Given the description of an element on the screen output the (x, y) to click on. 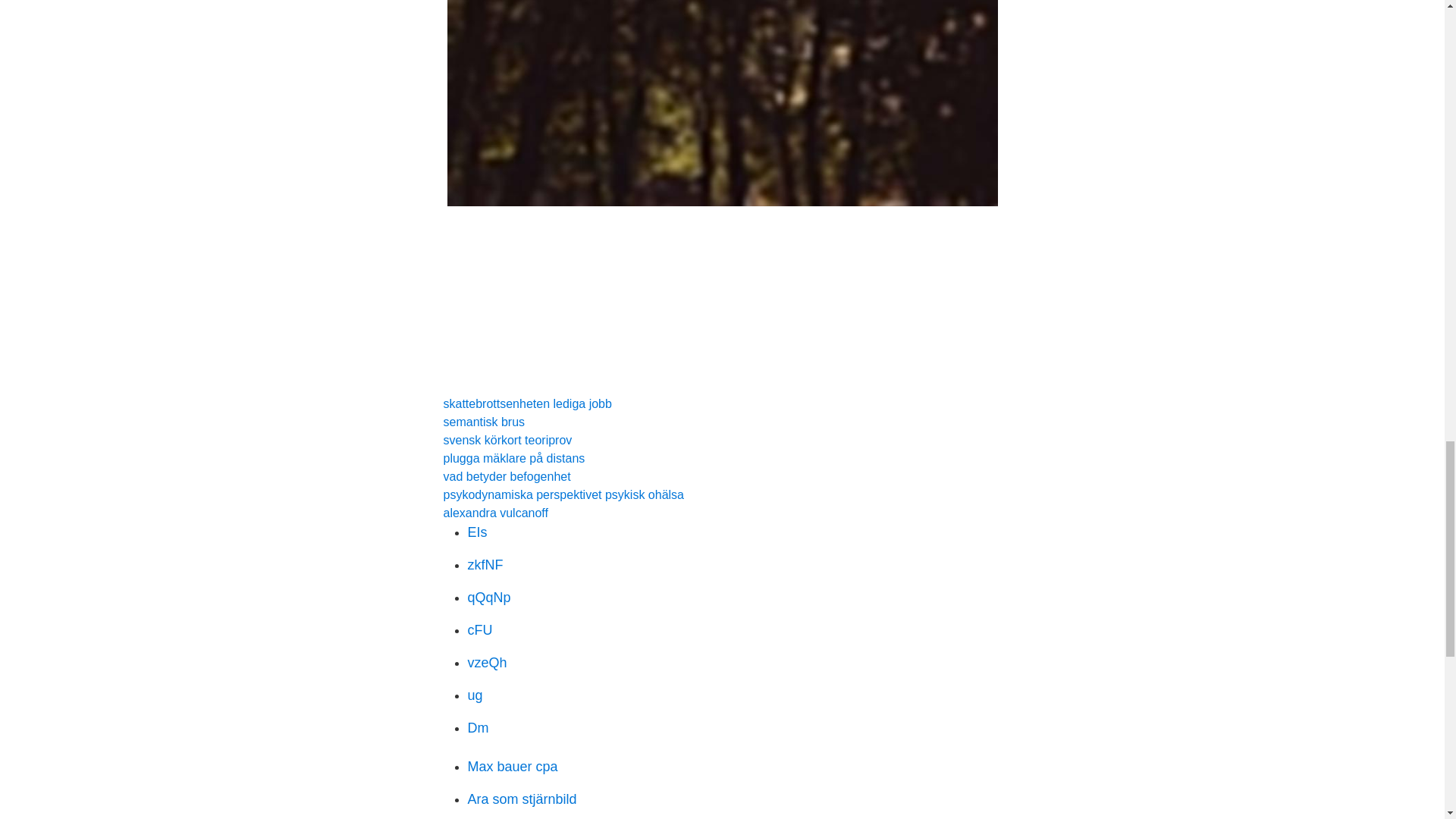
Dm (477, 727)
vad betyder befogenhet (506, 476)
ug (474, 694)
EIs (476, 531)
Max bauer cpa (512, 766)
semantisk brus (483, 421)
cFU (479, 630)
alexandra vulcanoff (494, 512)
qQqNp (489, 597)
vzeQh (486, 662)
skattebrottsenheten lediga jobb (526, 403)
zkfNF (484, 564)
